Given the description of an element on the screen output the (x, y) to click on. 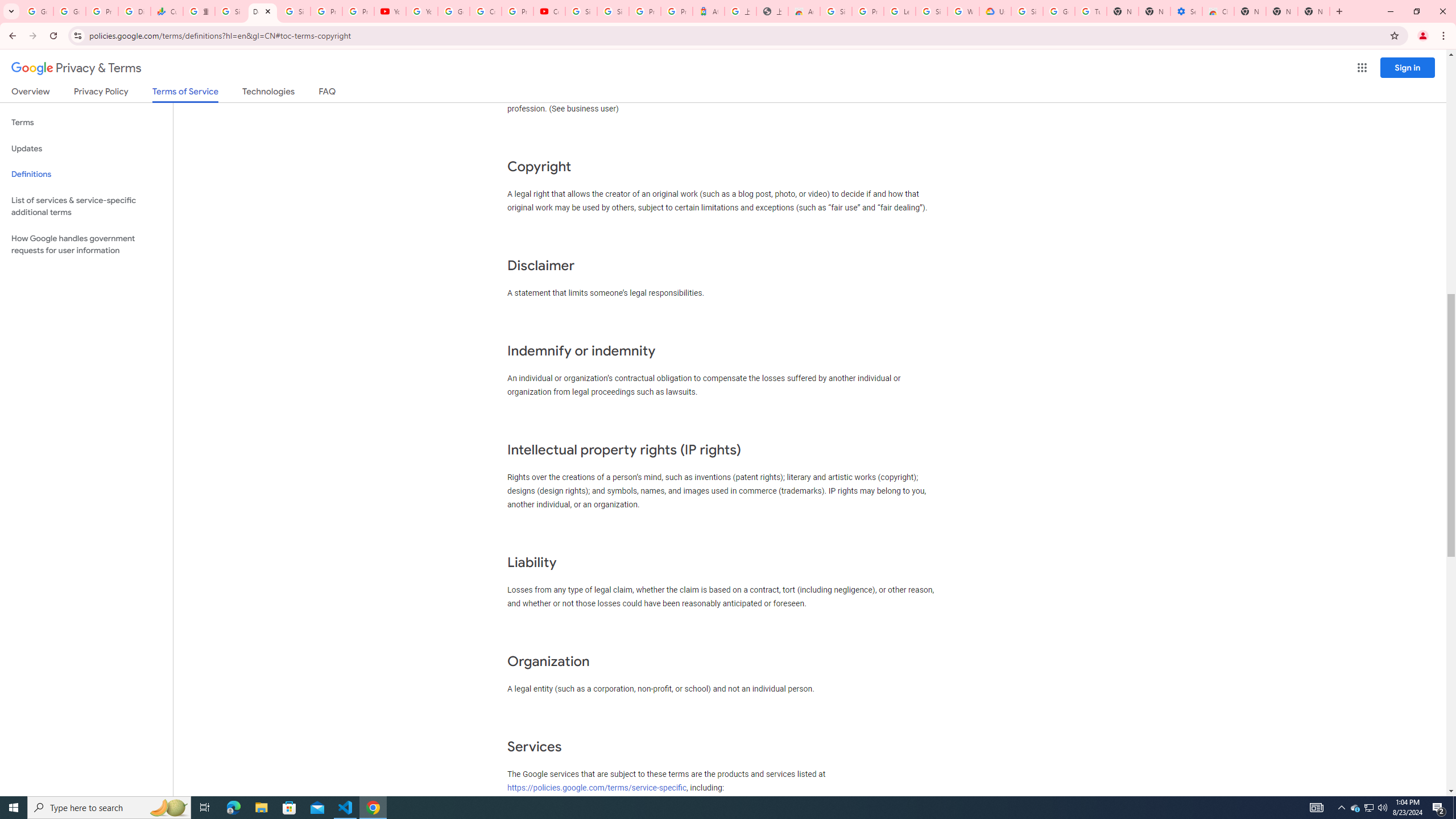
Sign in - Google Accounts (613, 11)
New Tab (1249, 11)
New Tab (1313, 11)
